Given the description of an element on the screen output the (x, y) to click on. 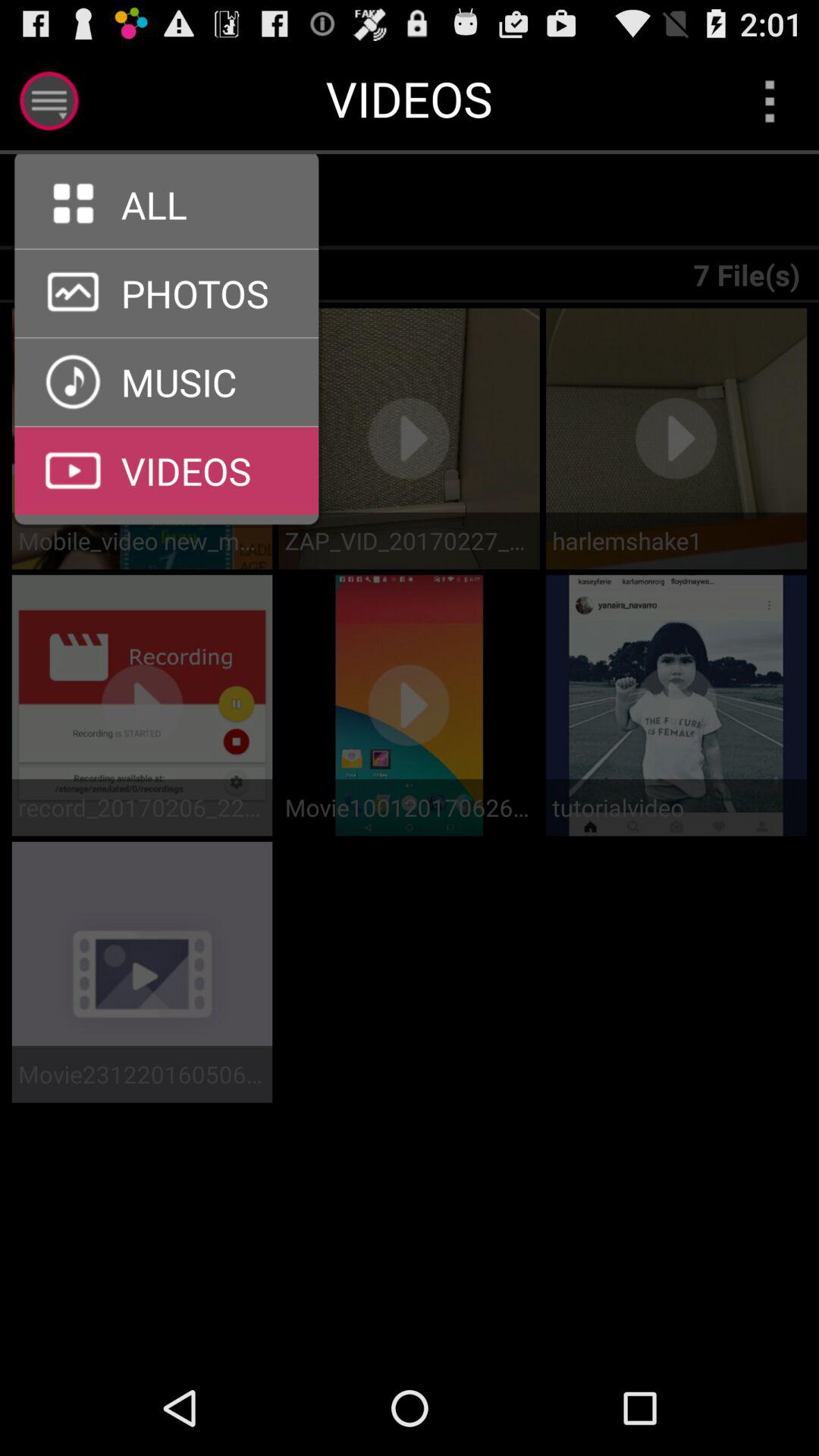
videos menu (166, 426)
